Given the description of an element on the screen output the (x, y) to click on. 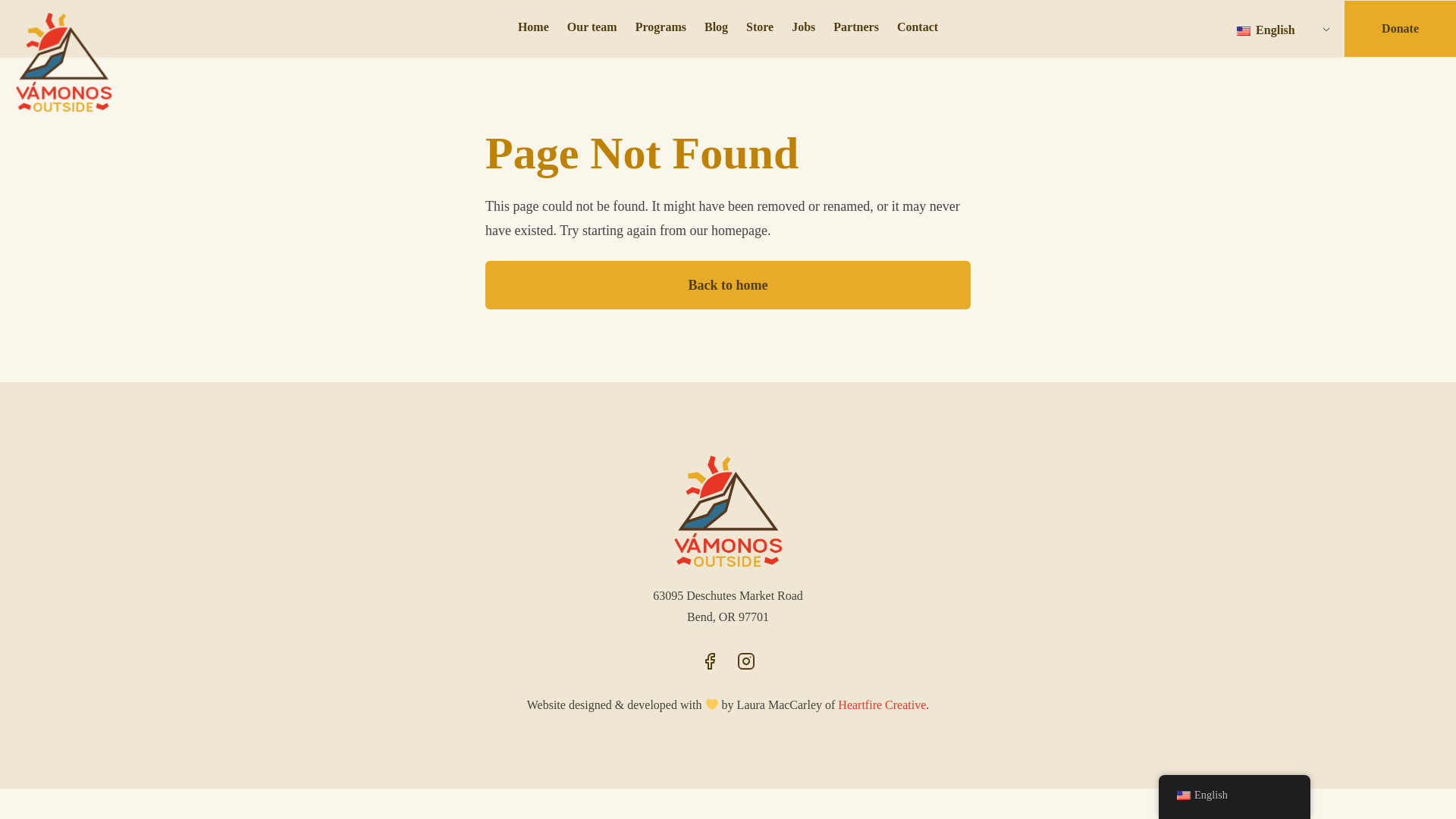
Contact (917, 28)
Partners (856, 28)
Heartfire Creative (882, 704)
English (1277, 30)
English (1243, 31)
Programs (660, 28)
Our team (591, 28)
Back to home (727, 285)
English (1277, 30)
